Given the description of an element on the screen output the (x, y) to click on. 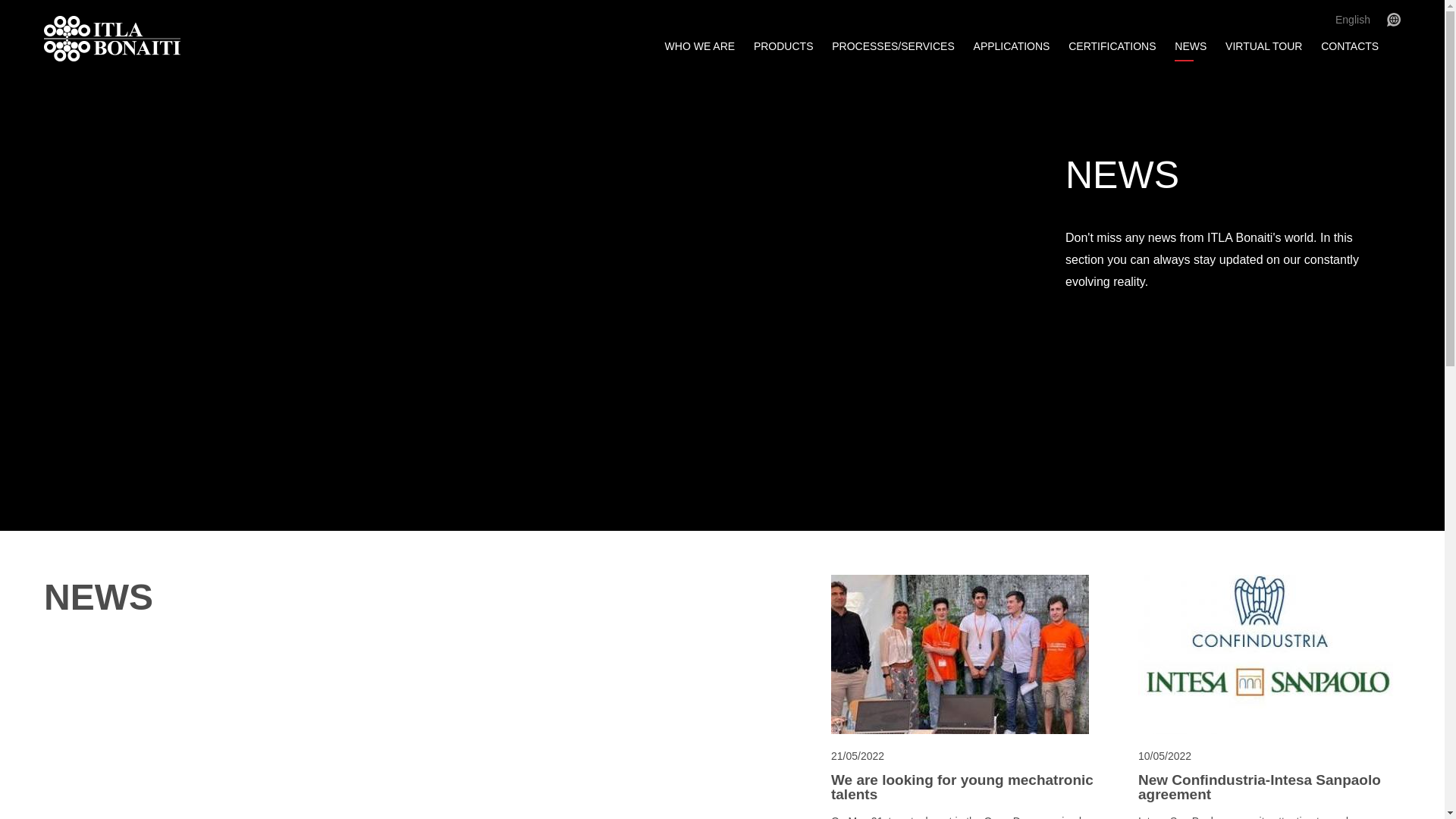
APPLICATIONS (1011, 47)
WHO WE ARE (700, 47)
New Confindustria-Intesa Sanpaolo agreement (1269, 786)
Home (165, 38)
CERTIFICATIONS (1111, 47)
VIRTUAL TOUR (1263, 47)
NEWS (1190, 47)
PRODUCTS (783, 47)
We are looking for young mechatronic talents (962, 786)
